Given the description of an element on the screen output the (x, y) to click on. 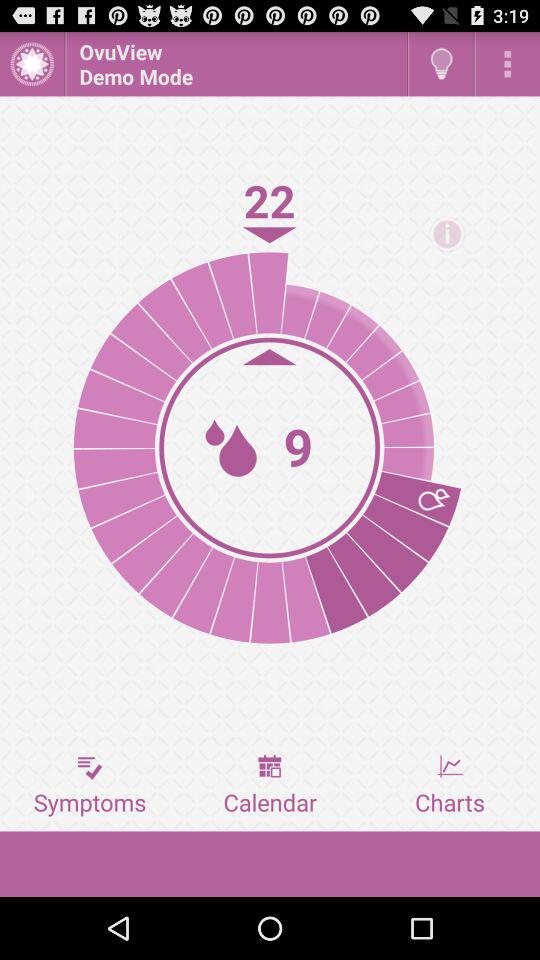
launch the icon at the bottom right corner (450, 785)
